Given the description of an element on the screen output the (x, y) to click on. 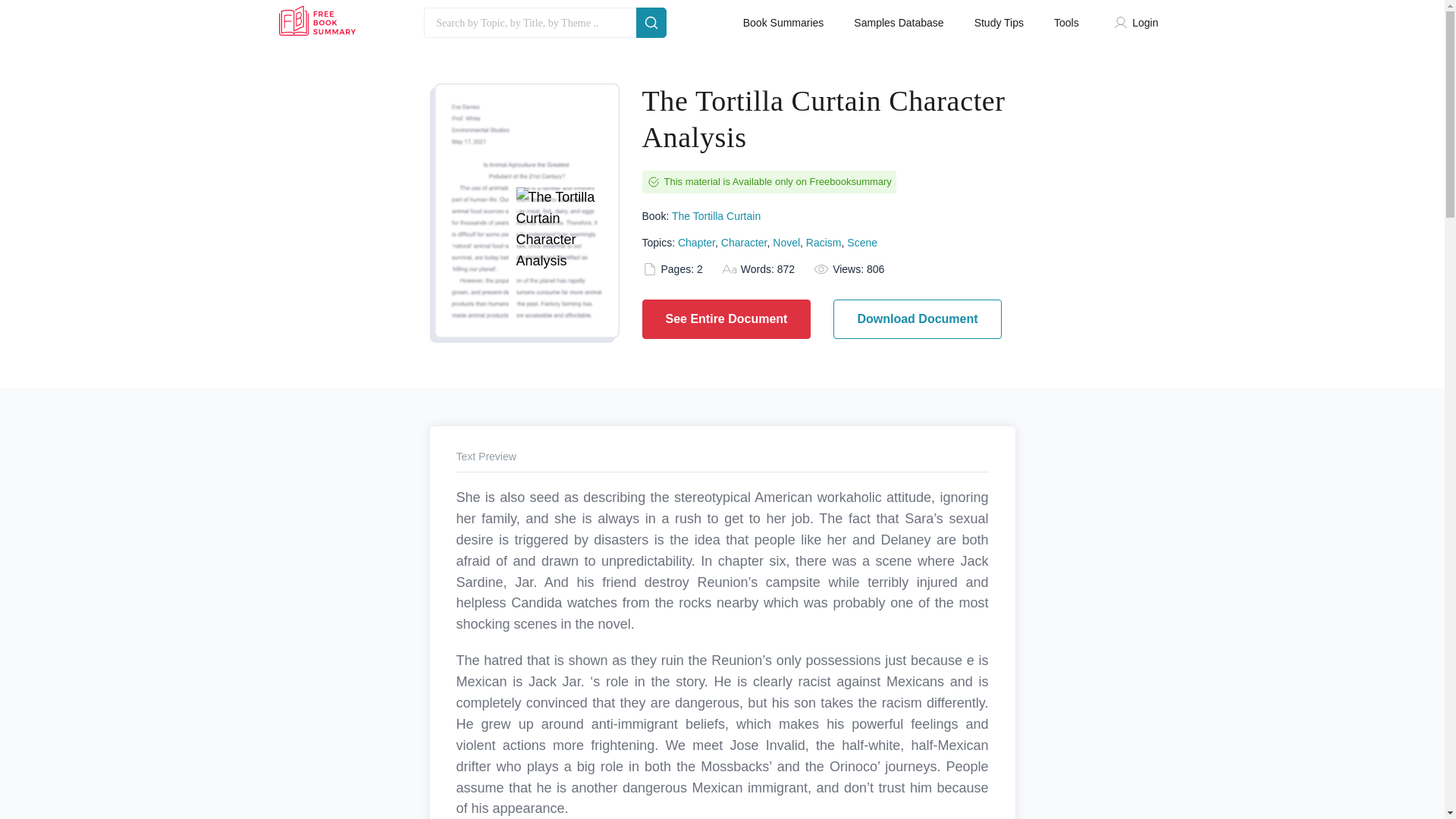
The Tortilla Curtain (715, 215)
Samples Database (897, 22)
Character (743, 242)
Login (1139, 22)
Chapter (696, 242)
Book Summaries (783, 22)
Racism (823, 242)
Scene (862, 242)
Novel (786, 242)
Study Tips (998, 22)
